Given the description of an element on the screen output the (x, y) to click on. 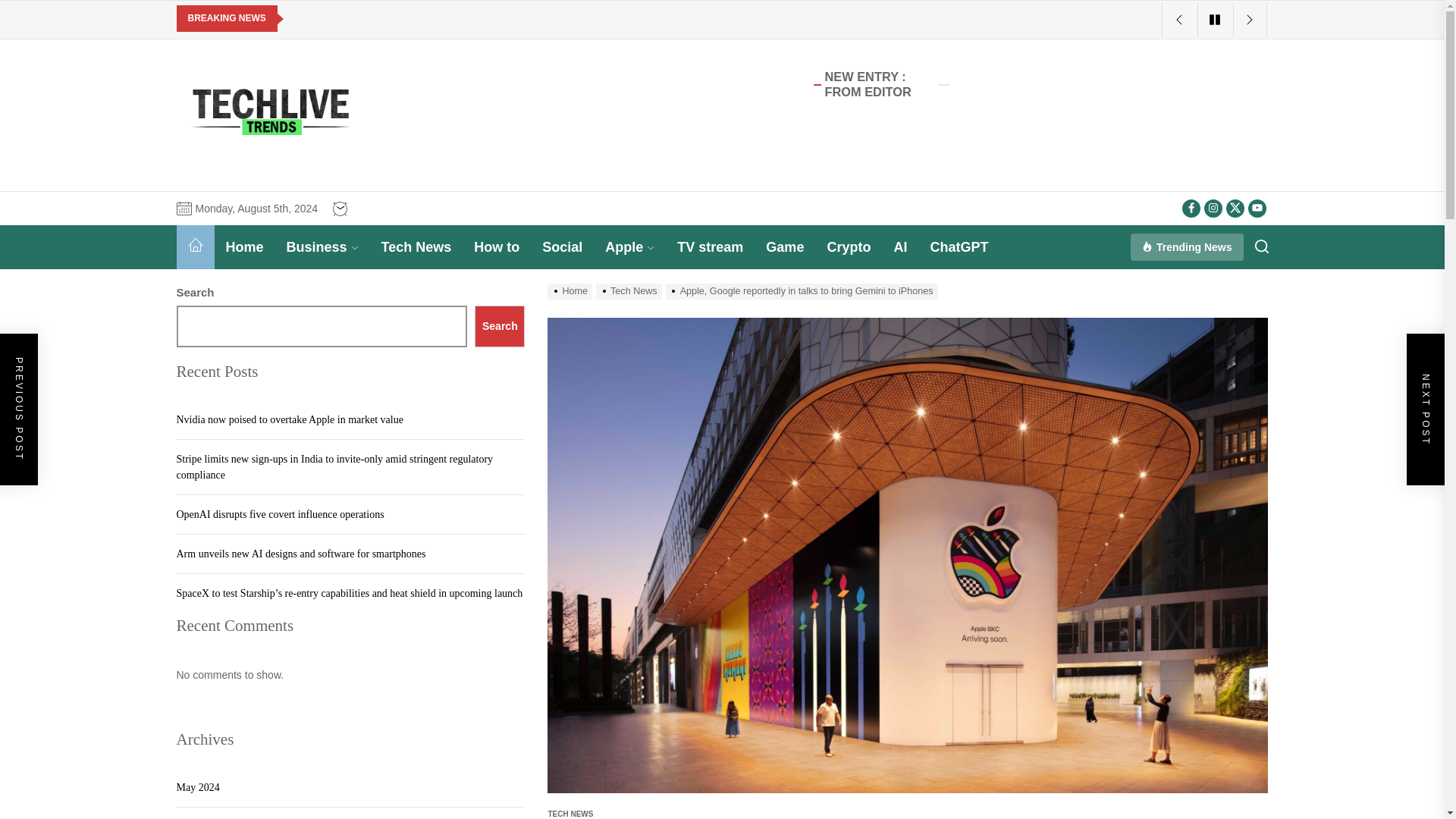
Instagram (1213, 208)
Facebook (1190, 208)
Home (244, 247)
Business (322, 247)
Home (195, 247)
tech live trends (294, 175)
Twitter (1234, 208)
Youtube (1256, 208)
